Given the description of an element on the screen output the (x, y) to click on. 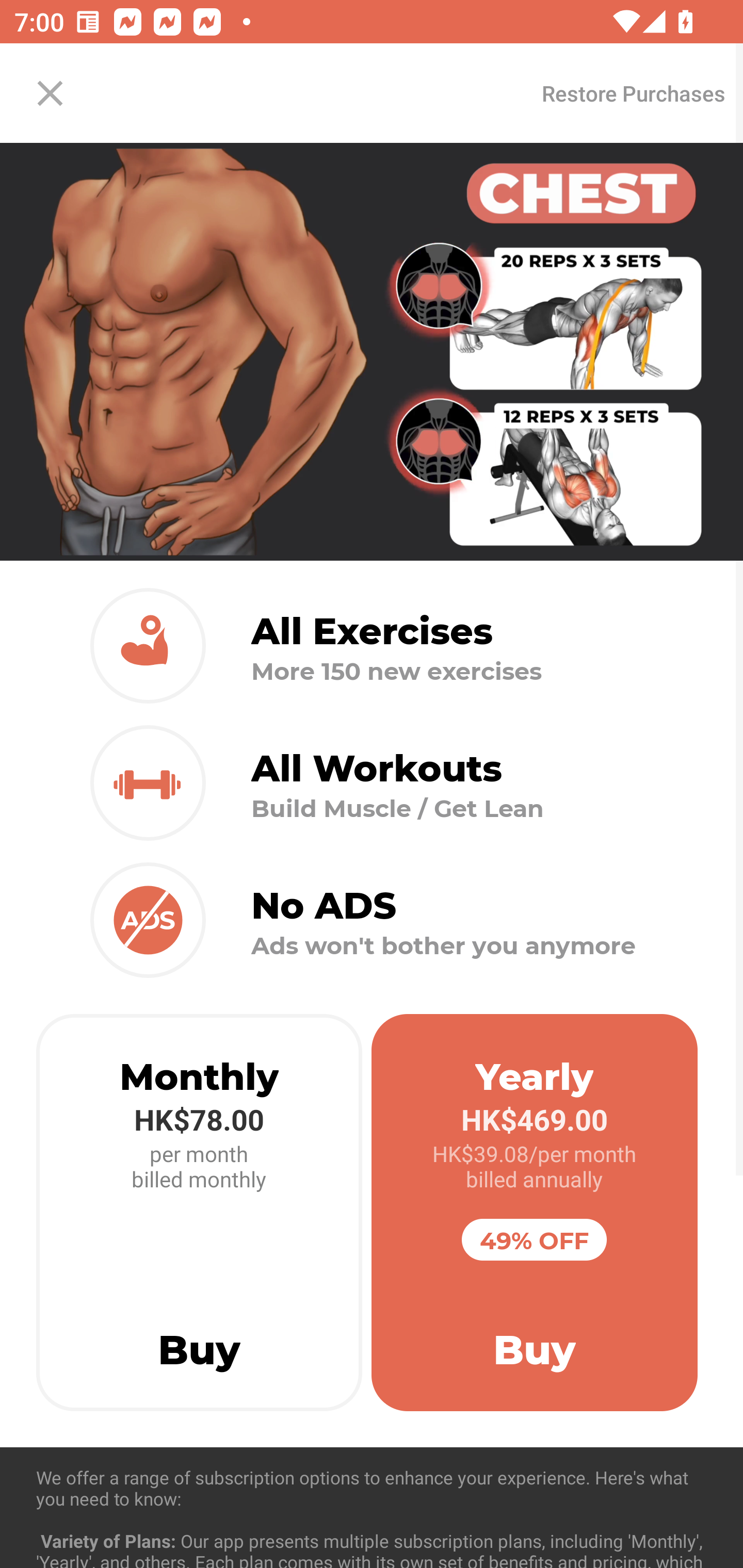
Restore Purchases (632, 92)
Monthly HK$78.00 per month
billed monthly Buy (199, 1212)
